Given the description of an element on the screen output the (x, y) to click on. 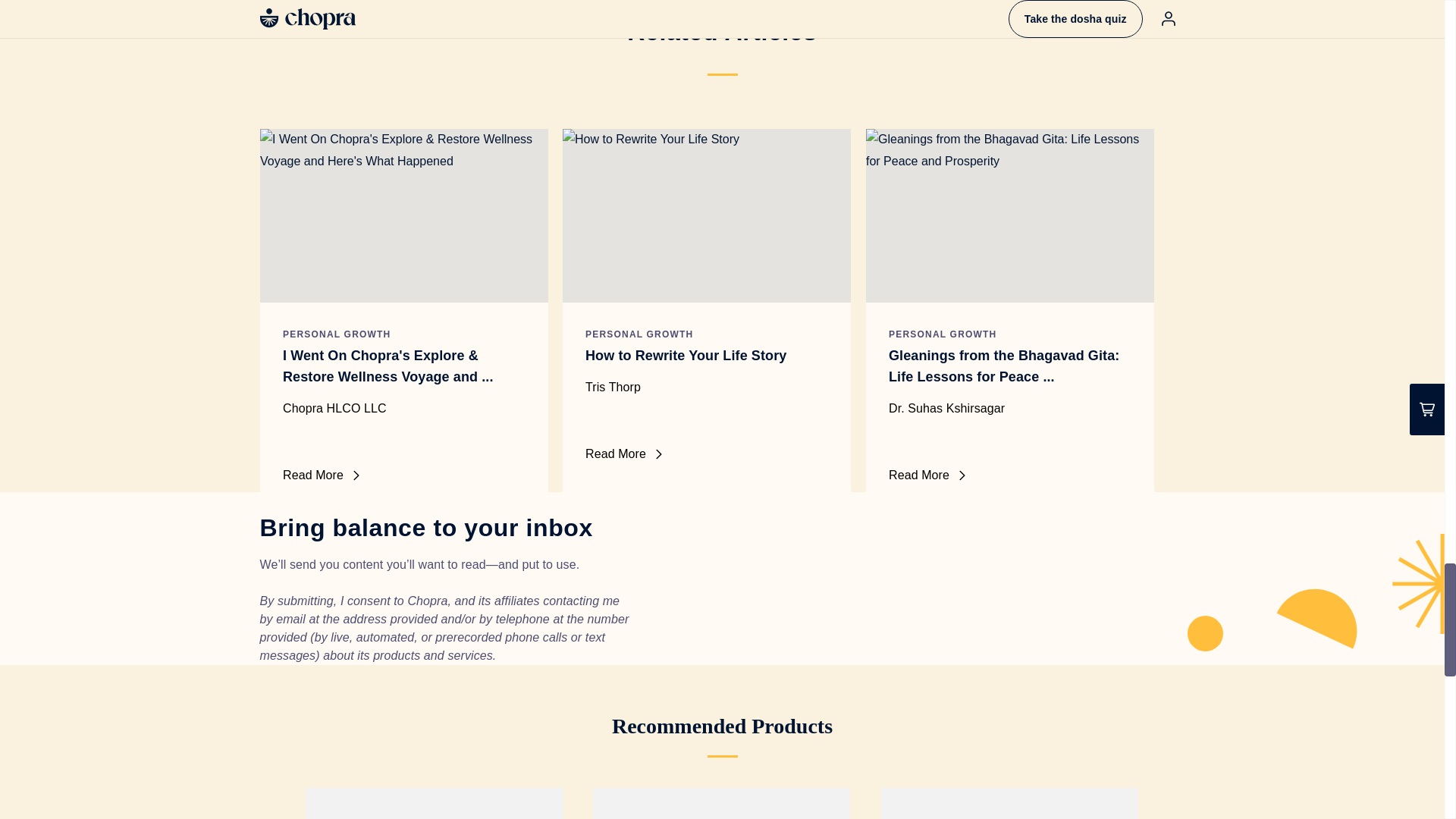
Gleanings from the Bhagavad Gita: Life Lessons for Peace ... (1009, 365)
Read More (400, 475)
How to Rewrite Your Life Story (706, 355)
Dr. Suhas Kshirsagar (1009, 408)
Chopra HLCO LLC (403, 408)
PERSONAL GROWTH (336, 334)
PERSONAL GROWTH (639, 334)
Tris Thorp (706, 387)
Read More (703, 454)
PERSONAL GROWTH (941, 334)
